Given the description of an element on the screen output the (x, y) to click on. 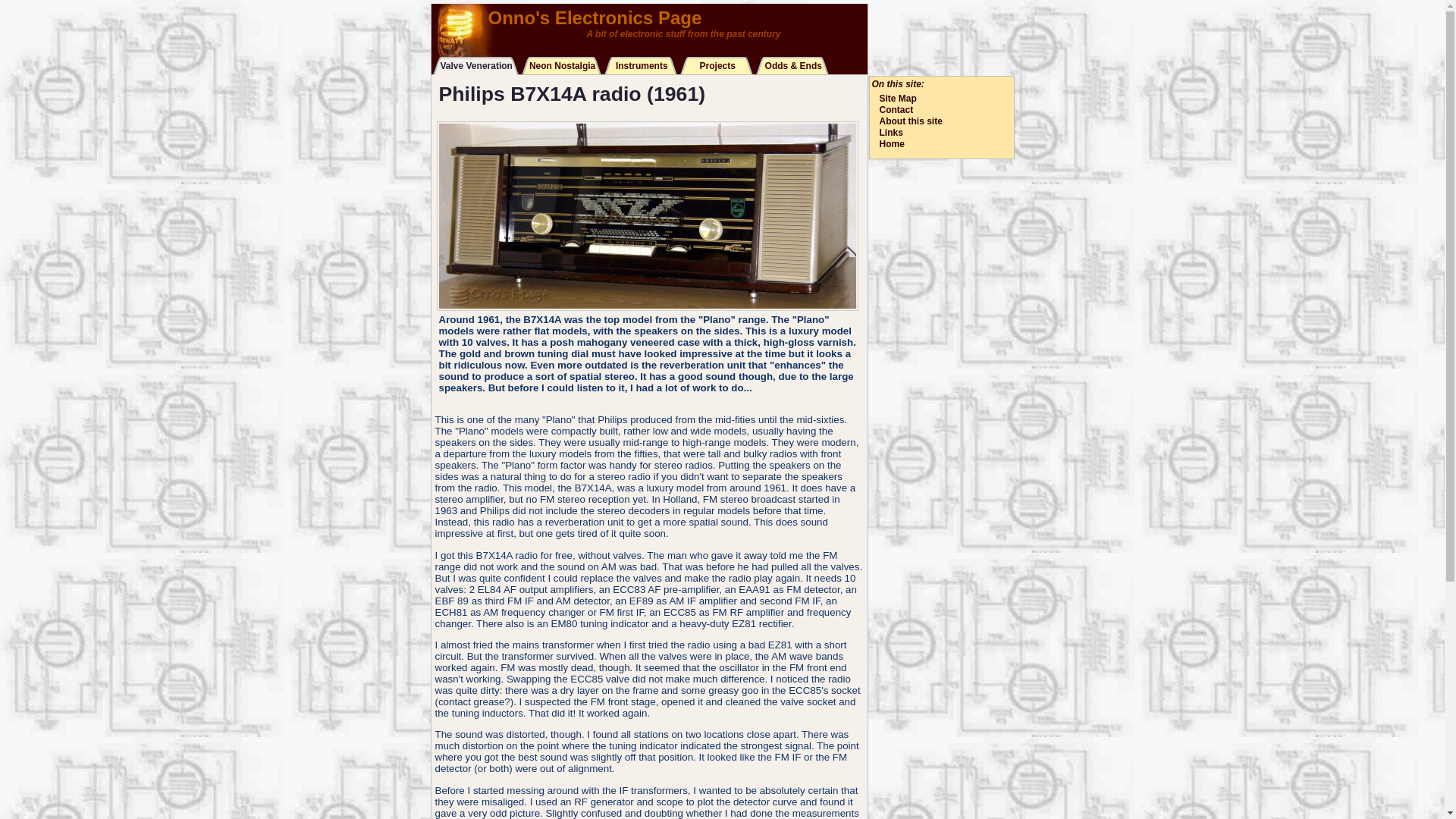
Home (891, 143)
Links (890, 132)
Neon Nostalgia (560, 66)
Instruments (640, 66)
About this site (910, 121)
Site Map (898, 98)
Valve Veneration (474, 66)
Contact (896, 109)
Projects (716, 66)
home (649, 23)
